Given the description of an element on the screen output the (x, y) to click on. 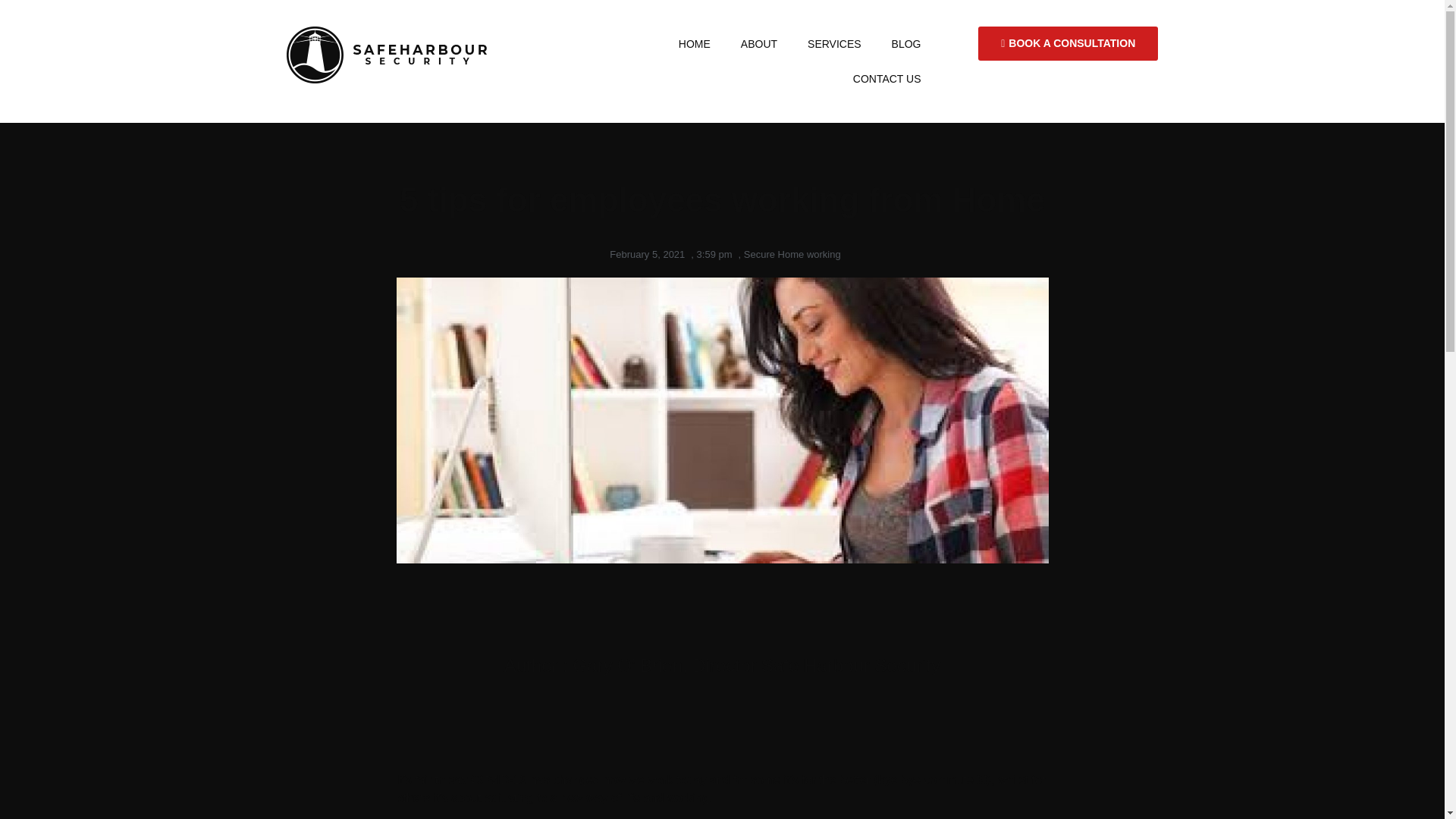
ABOUT (758, 43)
safeharbour-logo-landscape-dark (387, 54)
BOOK A CONSULTATION (1067, 43)
CONTACT US (887, 78)
Secure Home working (792, 254)
February 5, 2021 (644, 254)
SERVICES (834, 43)
BLOG (906, 43)
HOME (694, 43)
